Given the description of an element on the screen output the (x, y) to click on. 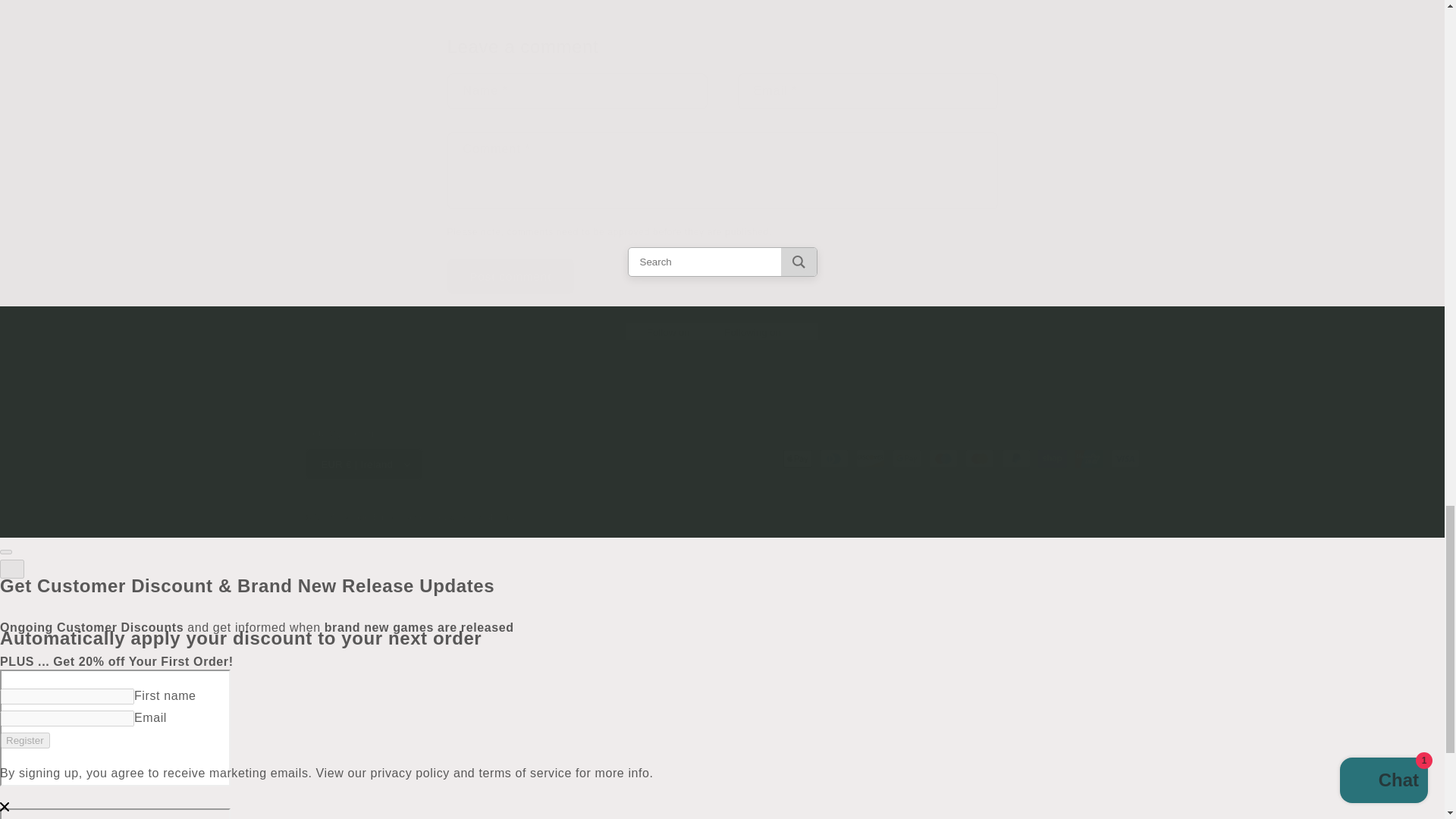
Post comment (510, 276)
